Given the description of an element on the screen output the (x, y) to click on. 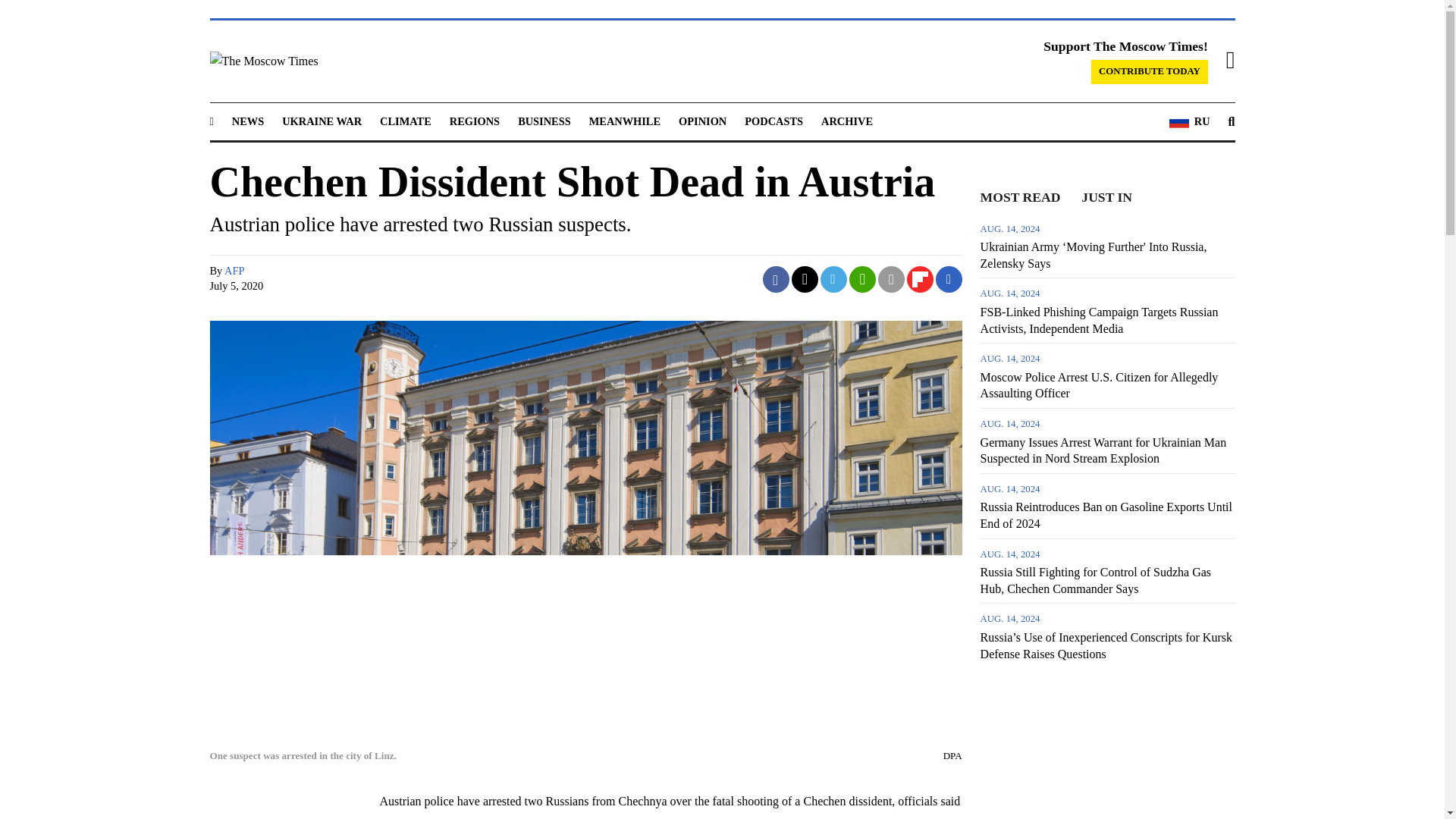
Share on Flipboard (920, 279)
Share on Telegram (834, 279)
AFP (234, 270)
PODCASTS (773, 121)
UKRAINE WAR (321, 121)
ARCHIVE (846, 121)
BUSINESS (544, 121)
NEWS (247, 121)
CLIMATE (405, 121)
The Moscow Times - Independent News from Russia (364, 61)
